Given the description of an element on the screen output the (x, y) to click on. 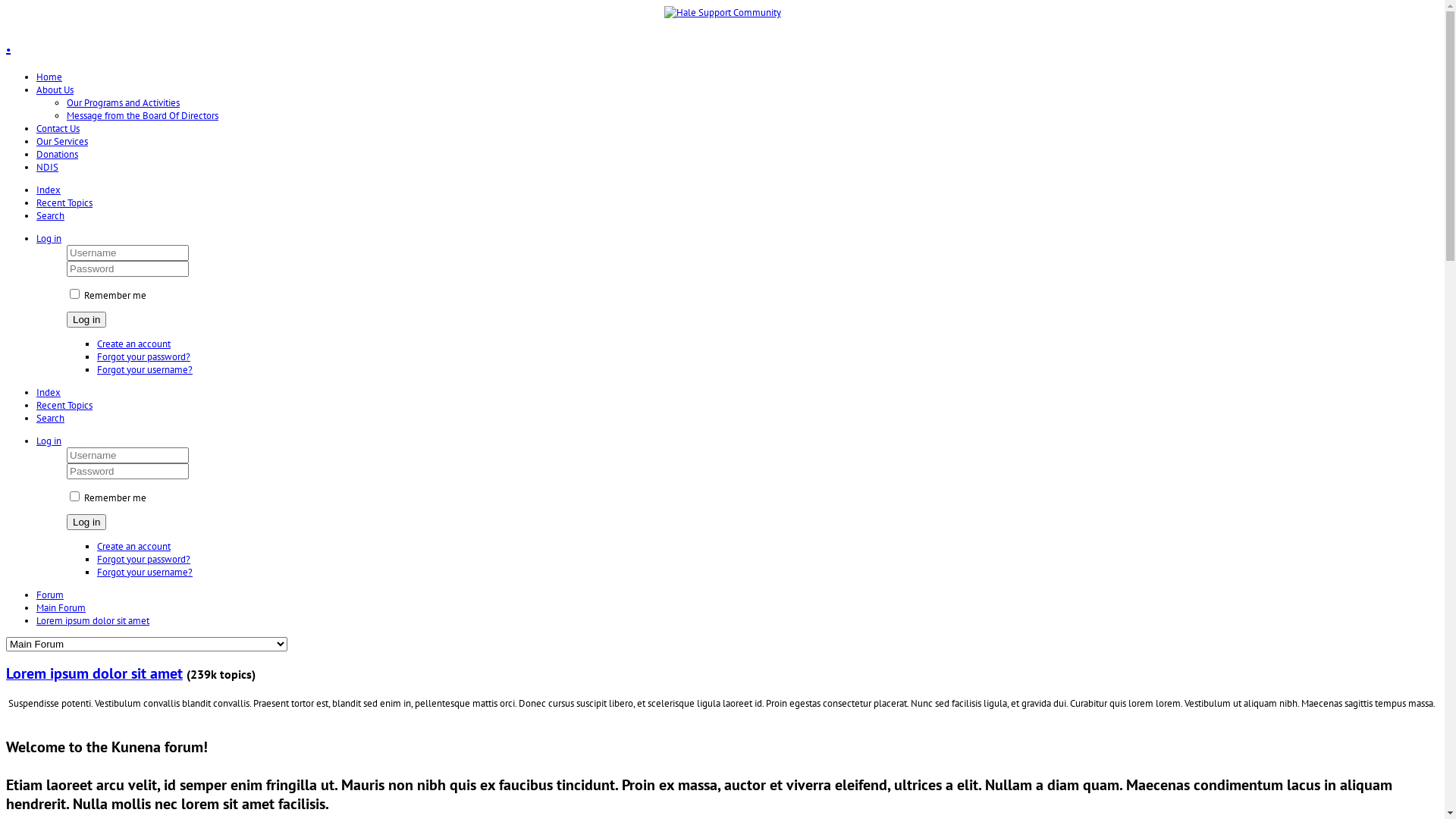
Index Element type: text (48, 391)
Lorem ipsum dolor sit amet Element type: text (94, 672)
Index Element type: text (48, 189)
About Us Element type: text (54, 89)
Our Programs and Activities Element type: text (122, 102)
Forgot your username? Element type: text (144, 571)
Message from the Board Of Directors Element type: text (142, 115)
. Element type: text (722, 43)
Recent Topics Element type: text (64, 404)
Main Forum Element type: text (60, 607)
Create an account Element type: text (133, 545)
Home Element type: text (49, 76)
Log in Element type: text (48, 238)
Forgot your password? Element type: text (143, 356)
Forgot your password? Element type: text (143, 558)
Lorem ipsum dolor sit amet Element type: text (92, 620)
NDIS Element type: text (47, 166)
Search Element type: text (50, 215)
Create an account Element type: text (133, 343)
Forgot your username? Element type: text (144, 369)
Contact Us Element type: text (57, 128)
Forum Element type: text (49, 594)
Recent Topics Element type: text (64, 202)
Donations Element type: text (57, 153)
Search Element type: text (50, 417)
Log in Element type: text (48, 440)
Our Services Element type: text (61, 140)
Log in Element type: text (86, 319)
Log in Element type: text (86, 522)
